Given the description of an element on the screen output the (x, y) to click on. 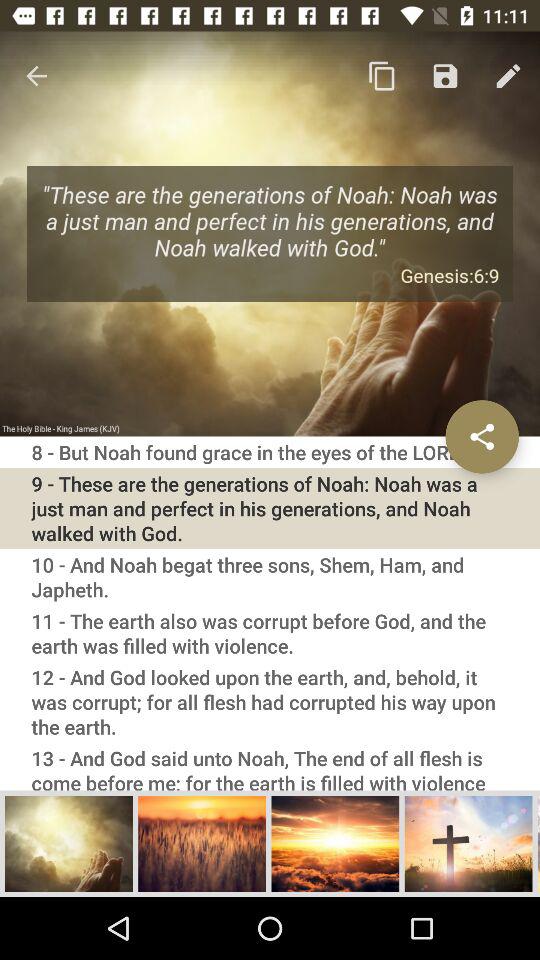
select bible verse (69, 843)
